Given the description of an element on the screen output the (x, y) to click on. 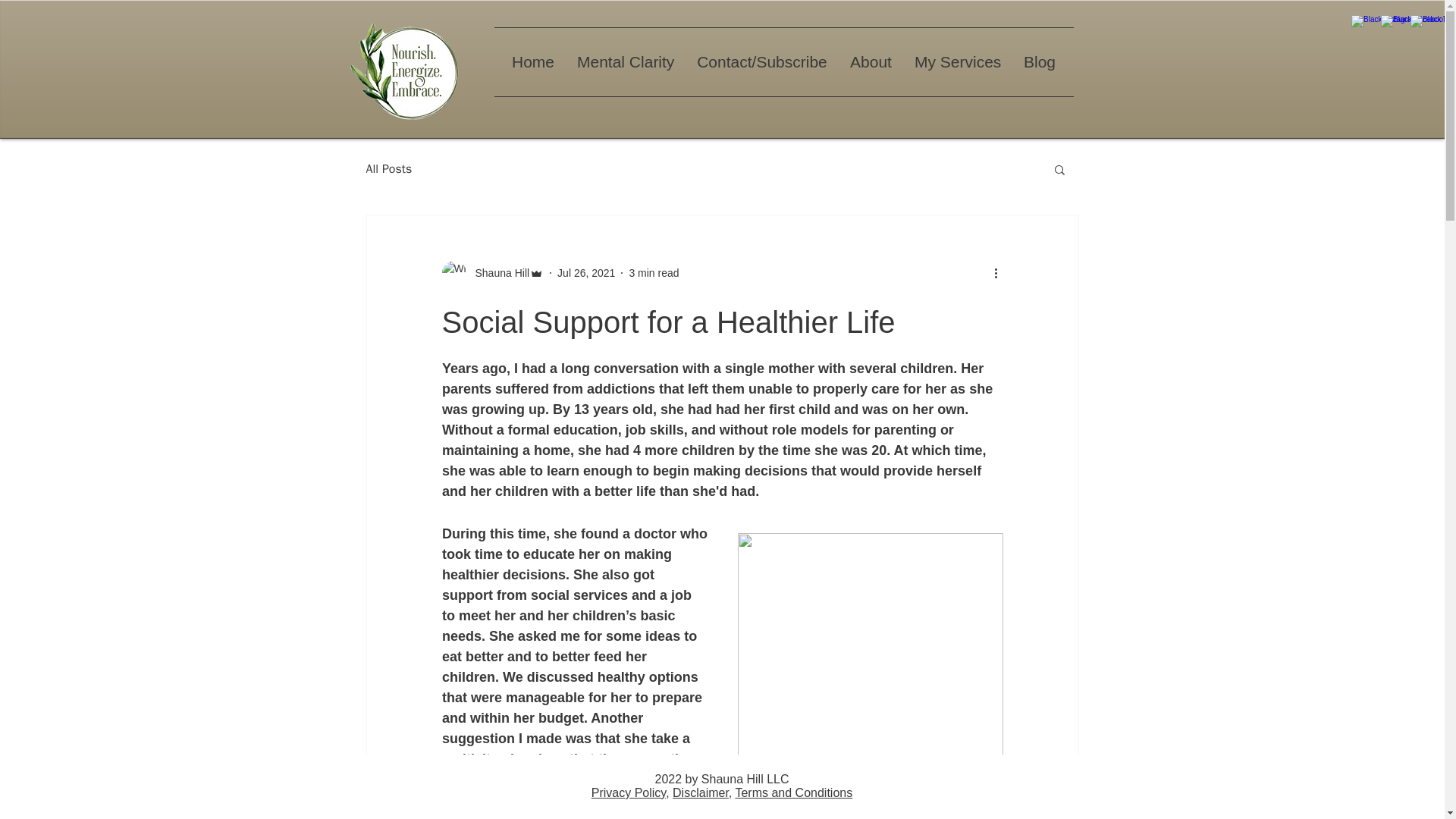
3 min read (653, 272)
Mental Clarity (625, 61)
Home (533, 61)
All Posts (388, 168)
Shauna Hill (497, 273)
Terms and Conditions (793, 792)
Shauna Hill (492, 273)
Jul 26, 2021 (585, 272)
Privacy Policy (628, 792)
About (870, 61)
